Given the description of an element on the screen output the (x, y) to click on. 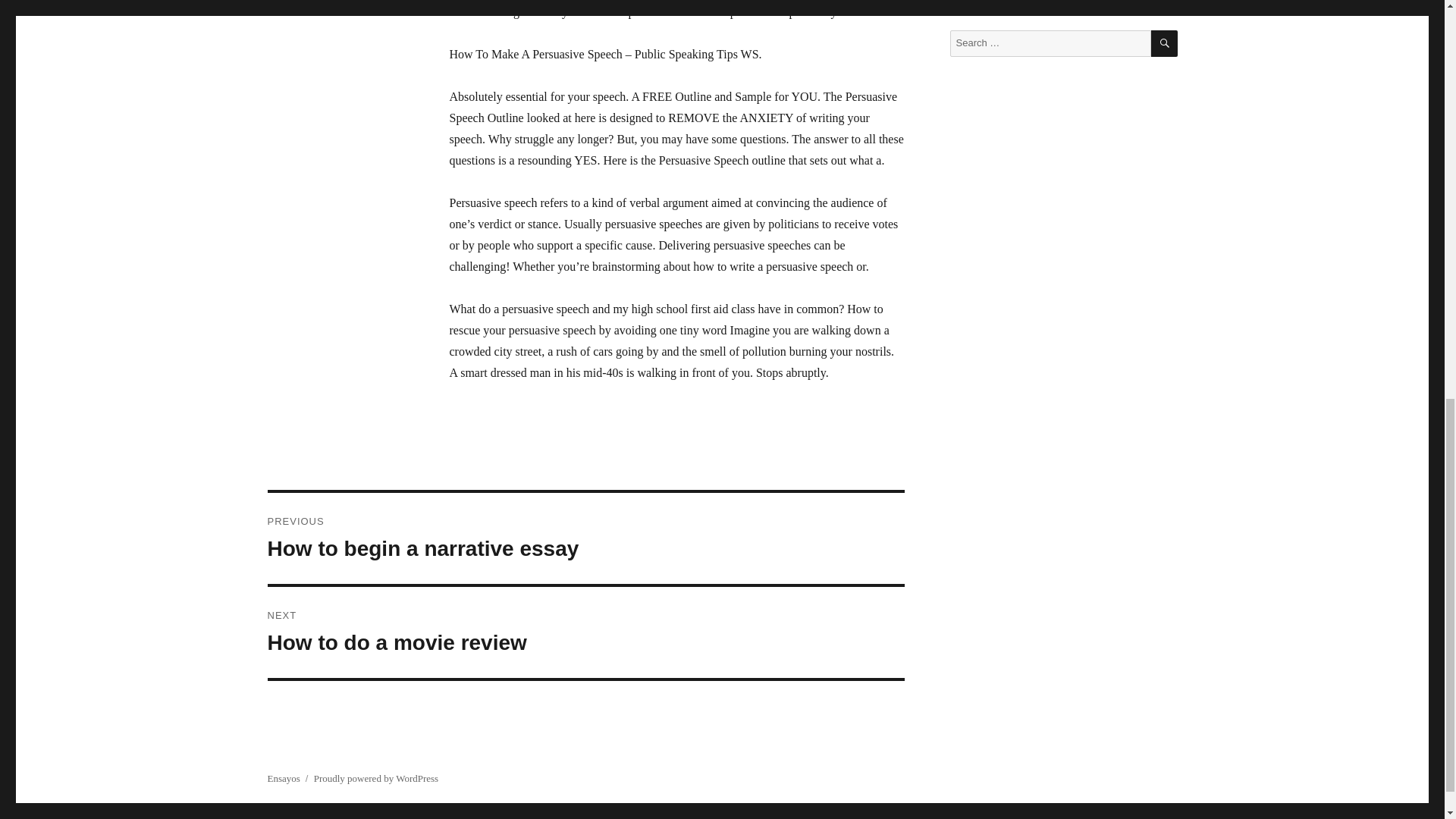
SEARCH (1164, 43)
Proudly powered by WordPress (376, 778)
Ensayos (585, 538)
